Given the description of an element on the screen output the (x, y) to click on. 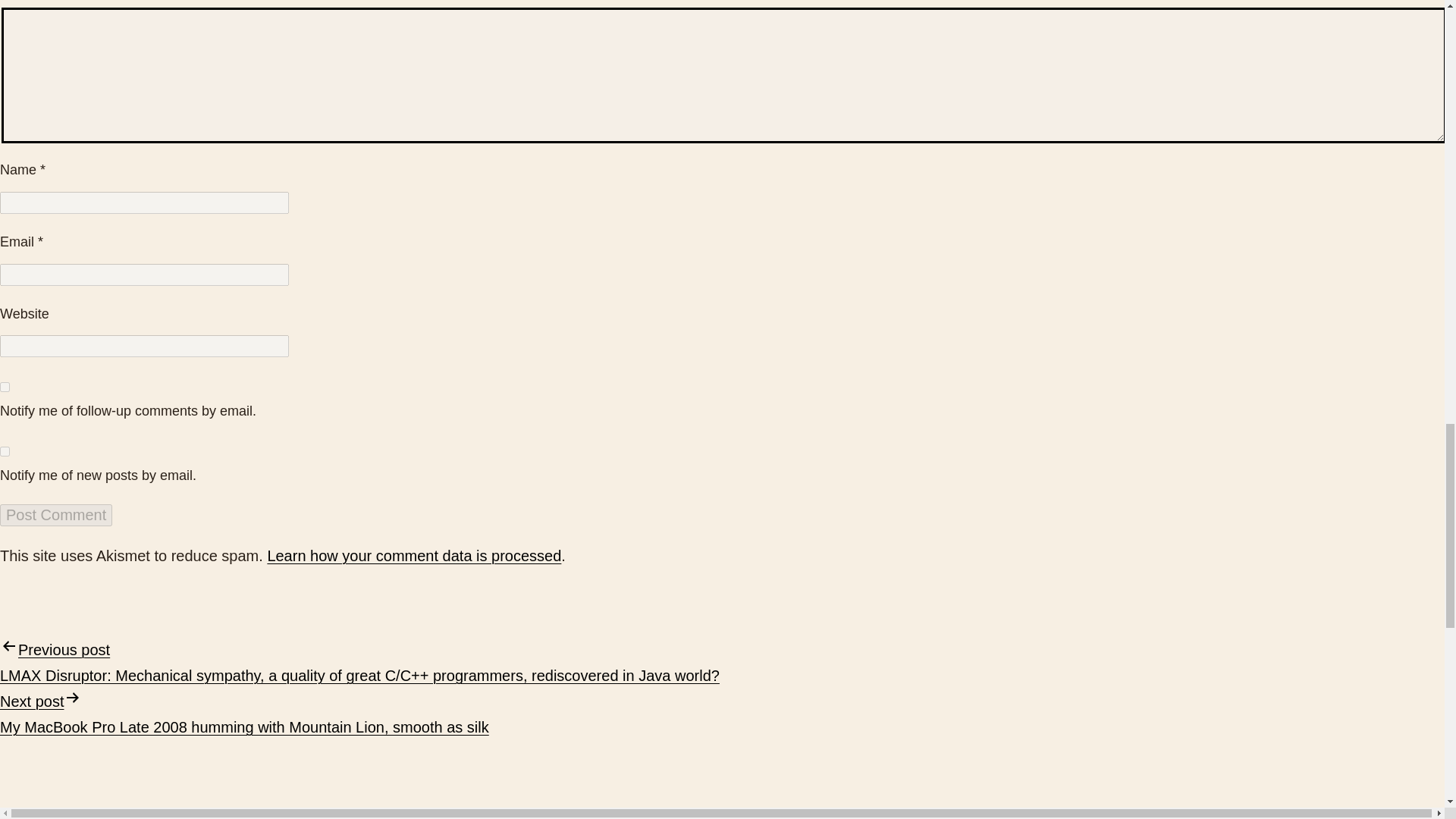
subscribe (5, 387)
Learn how your comment data is processed (413, 555)
Post Comment (56, 515)
subscribe (5, 451)
Post Comment (56, 515)
